Given the description of an element on the screen output the (x, y) to click on. 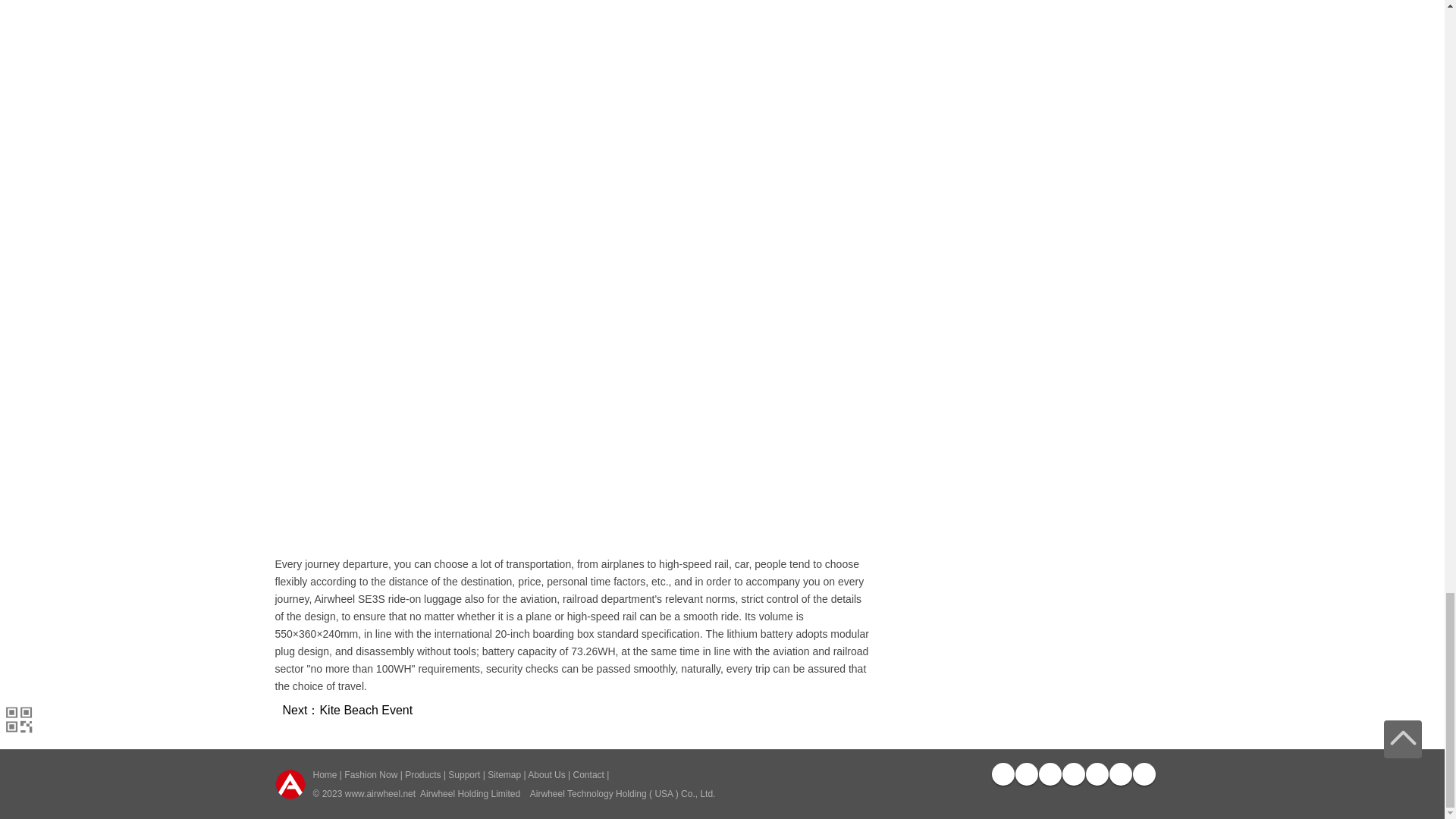
Twitter (1025, 773)
Facebook (1002, 773)
Youtube (1050, 773)
Kite Beach Event (365, 709)
Skype (1119, 773)
Instagram (1097, 773)
Global (1144, 773)
